Given the description of an element on the screen output the (x, y) to click on. 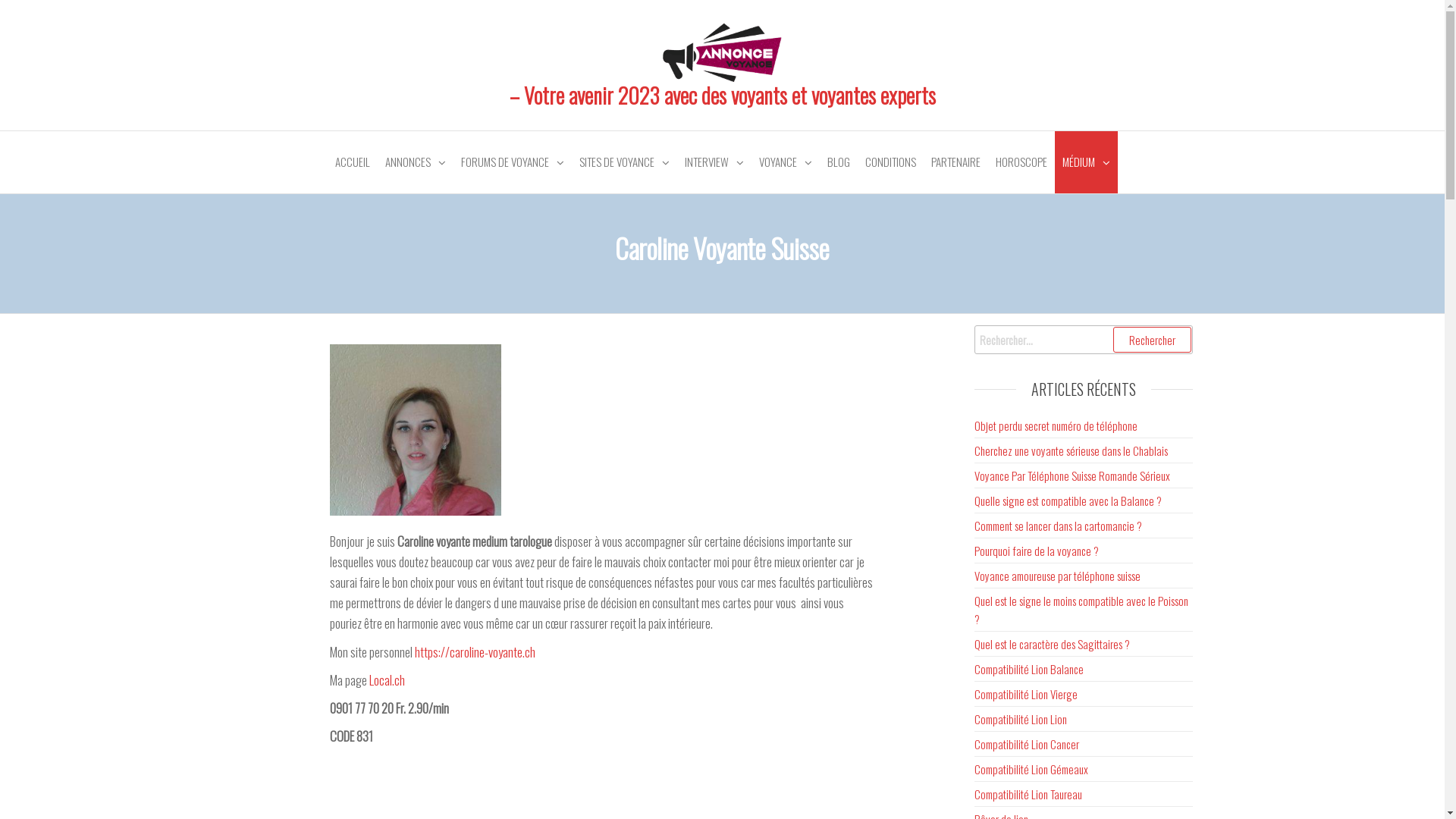
CONDITIONS Element type: text (889, 161)
https://caroline-voyante.ch Element type: text (474, 651)
Rechercher Element type: text (1152, 339)
VOYANCE Element type: text (784, 162)
FORUMS DE VOYANCE Element type: text (512, 162)
Pourquoi faire de la voyance ? Element type: text (1036, 550)
PARTENAIRE Element type: text (955, 161)
Local.ch Element type: text (386, 679)
BLOG Element type: text (837, 161)
ANNONCES Element type: text (415, 162)
Comment se lancer dans la cartomancie ? Element type: text (1058, 525)
ACCUEIL Element type: text (352, 161)
Quel est le signe le moins compatible avec le Poisson ? Element type: text (1081, 609)
HOROSCOPE Element type: text (1020, 161)
Quelle signe est compatible avec la Balance ? Element type: text (1067, 500)
INTERVIEW Element type: text (713, 162)
SITES DE VOYANCE Element type: text (624, 162)
